Given the description of an element on the screen output the (x, y) to click on. 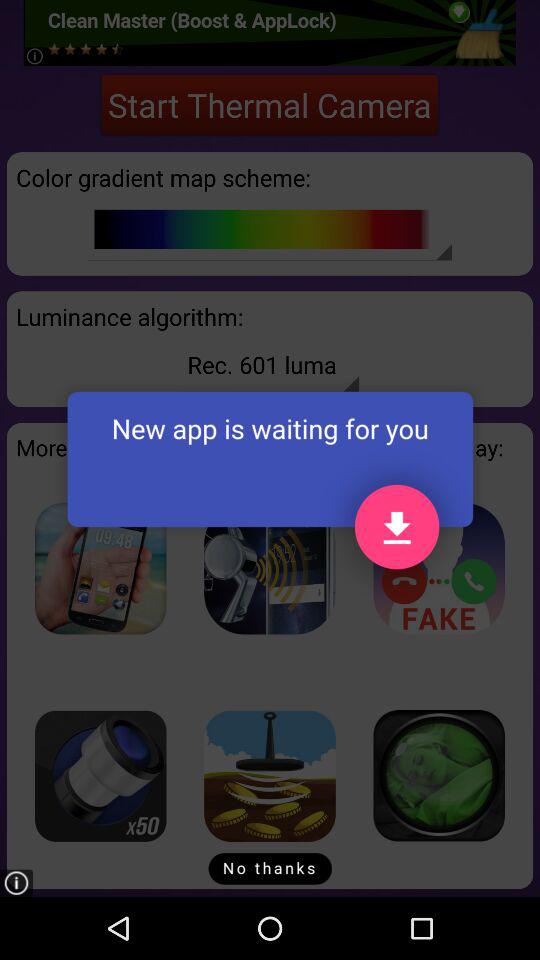
open the item above the color gradient map item (269, 104)
